Given the description of an element on the screen output the (x, y) to click on. 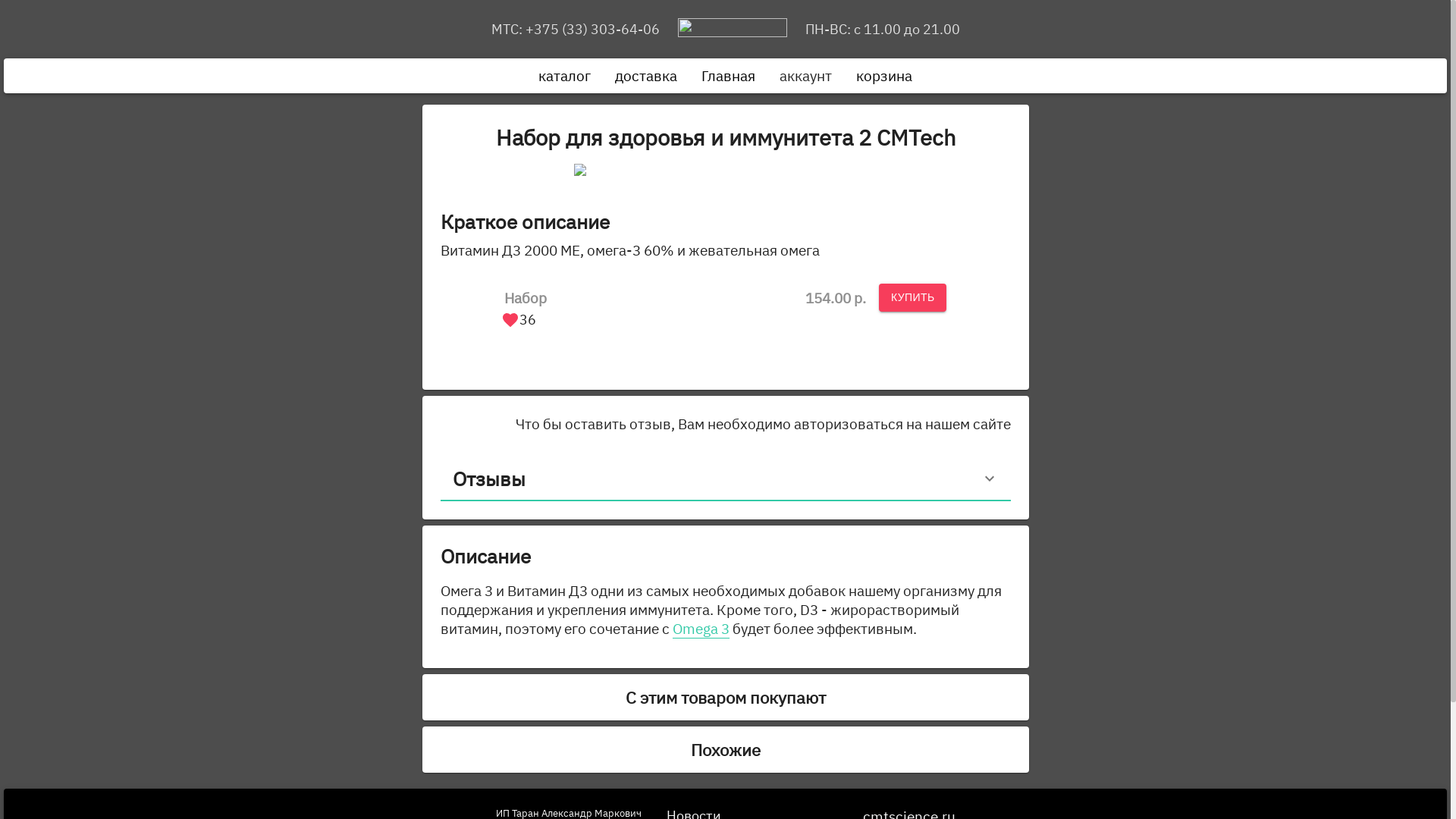
Omega 3 Element type: text (699, 628)
+375 (33) 303-64-06 Element type: text (602, 28)
